Given the description of an element on the screen output the (x, y) to click on. 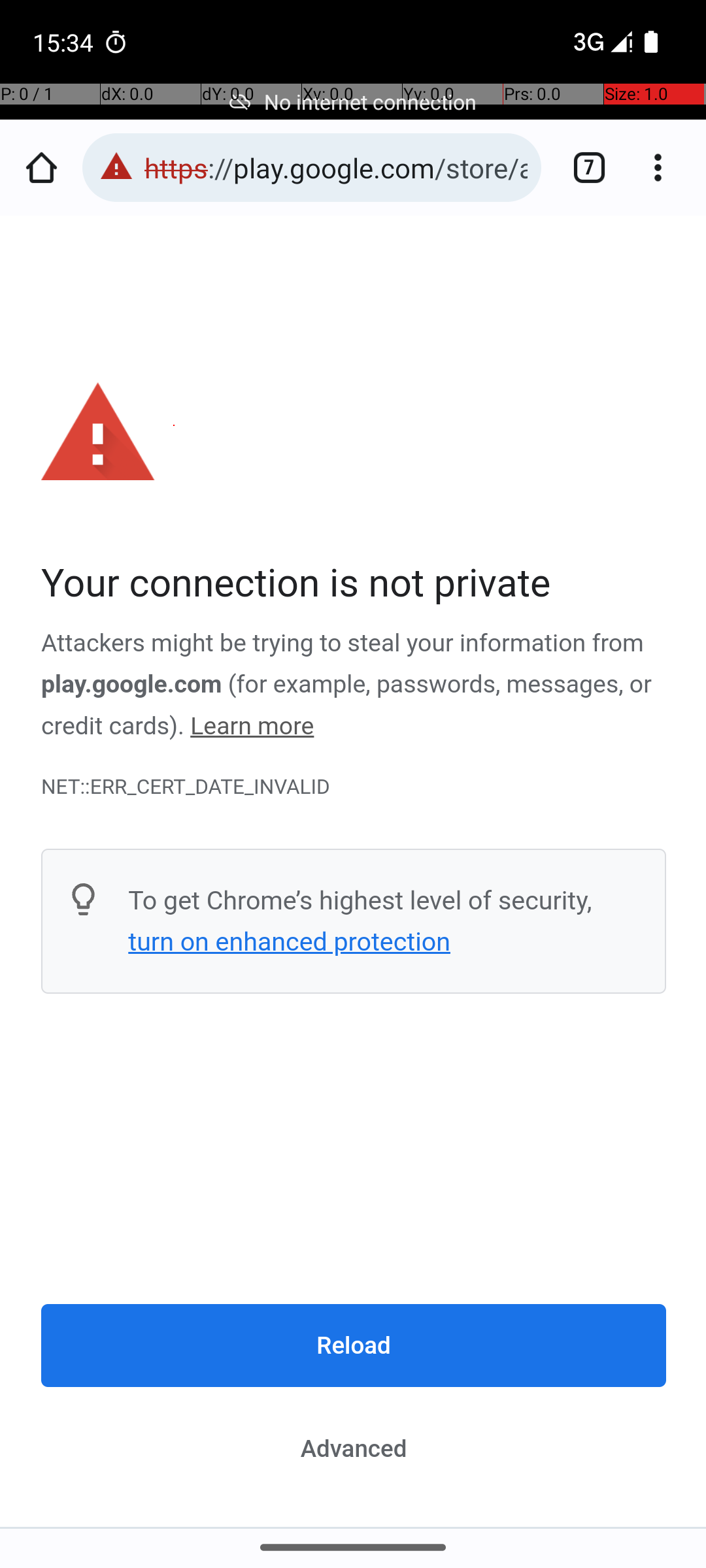
https://play.google.com/store/apps/details?id=net.gsantner.markor Element type: android.widget.EditText (335, 167)
play.google.com Element type: android.widget.TextView (131, 684)
